Given the description of an element on the screen output the (x, y) to click on. 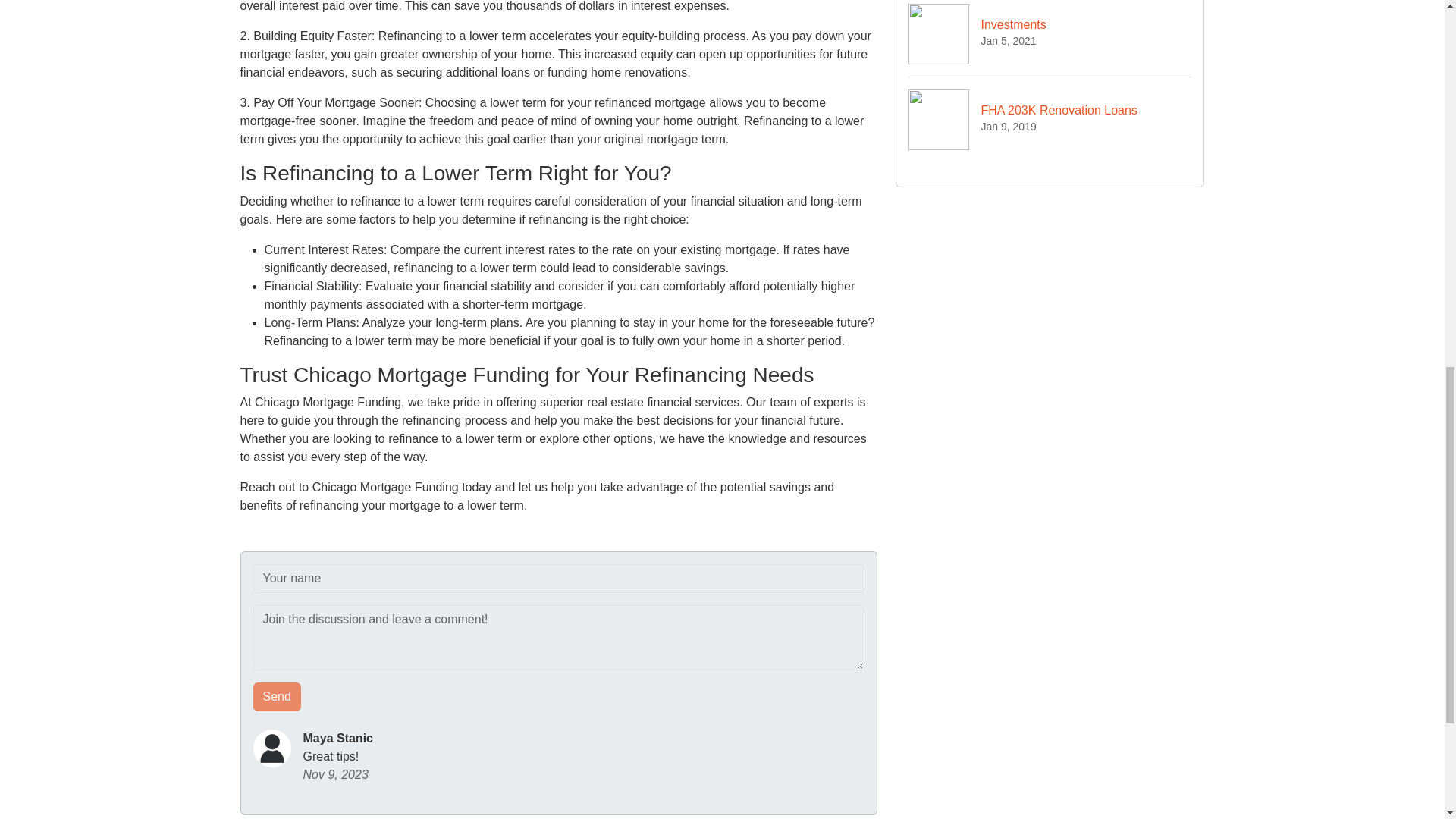
Send (277, 696)
Send (1050, 119)
